Given the description of an element on the screen output the (x, y) to click on. 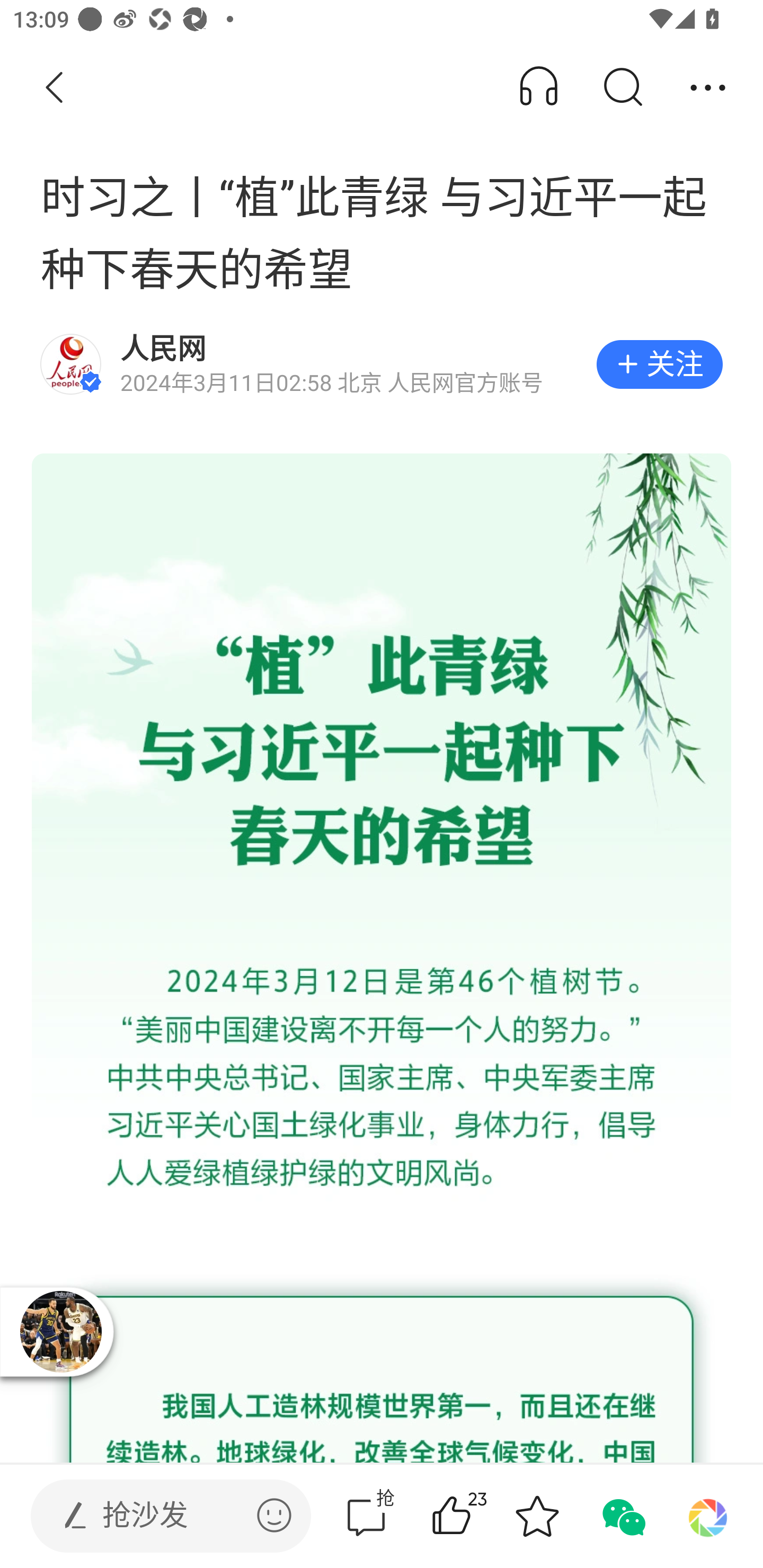
搜索  (622, 87)
分享  (707, 87)
 返回 (54, 87)
人民网 2024年3月11日02:58 北京 人民网官方账号  关注 (381, 364)
 关注 (659, 364)
新闻图片 (381, 957)
播放器 (60, 1331)
发表评论  抢沙发 发表评论  (155, 1516)
抢评论  抢 评论 (365, 1516)
23赞 (476, 1516)
收藏  (536, 1516)
分享到微信  (622, 1516)
分享到朋友圈 (707, 1516)
 (274, 1515)
